Given the description of an element on the screen output the (x, y) to click on. 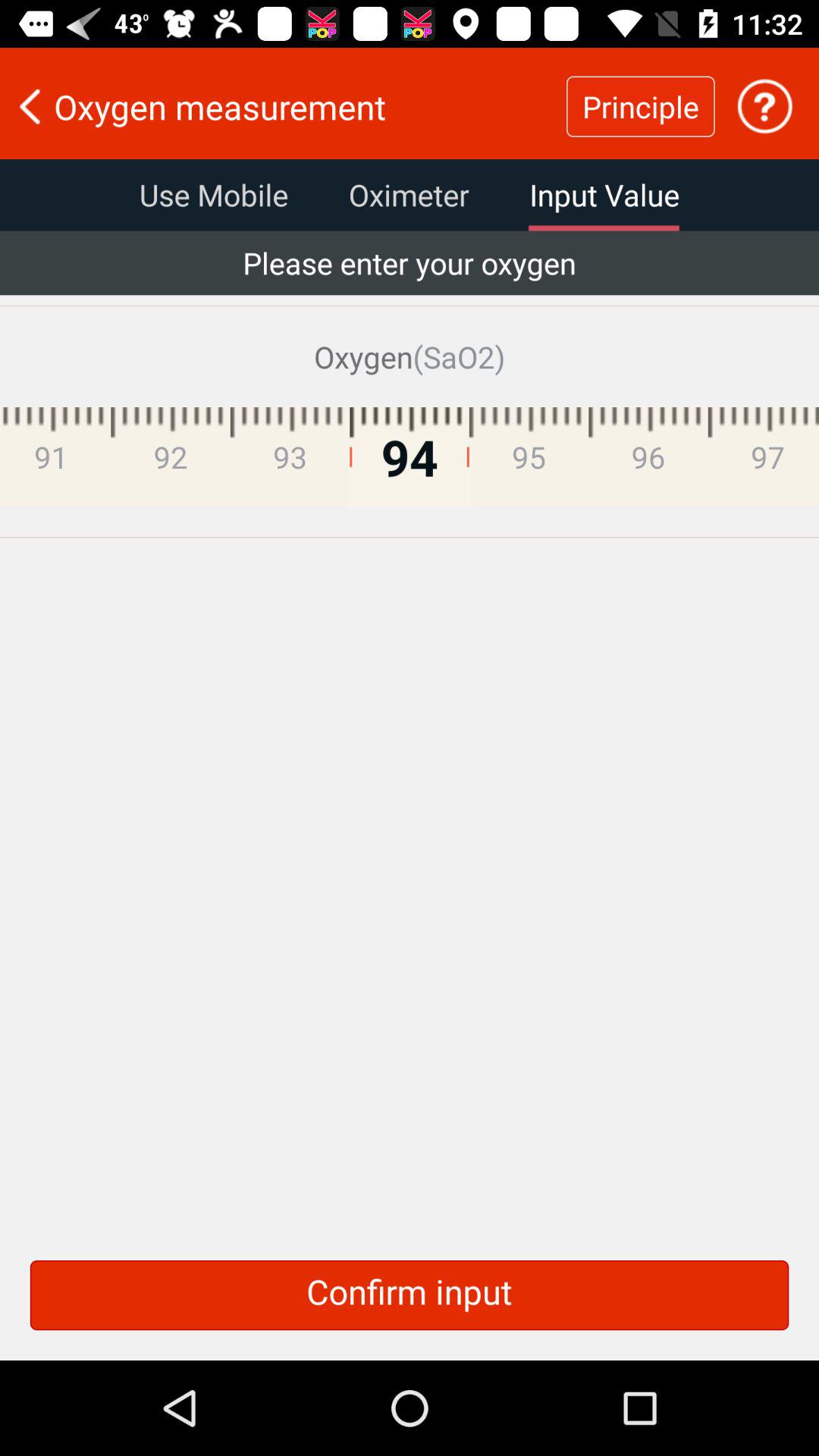
get help (764, 106)
